Given the description of an element on the screen output the (x, y) to click on. 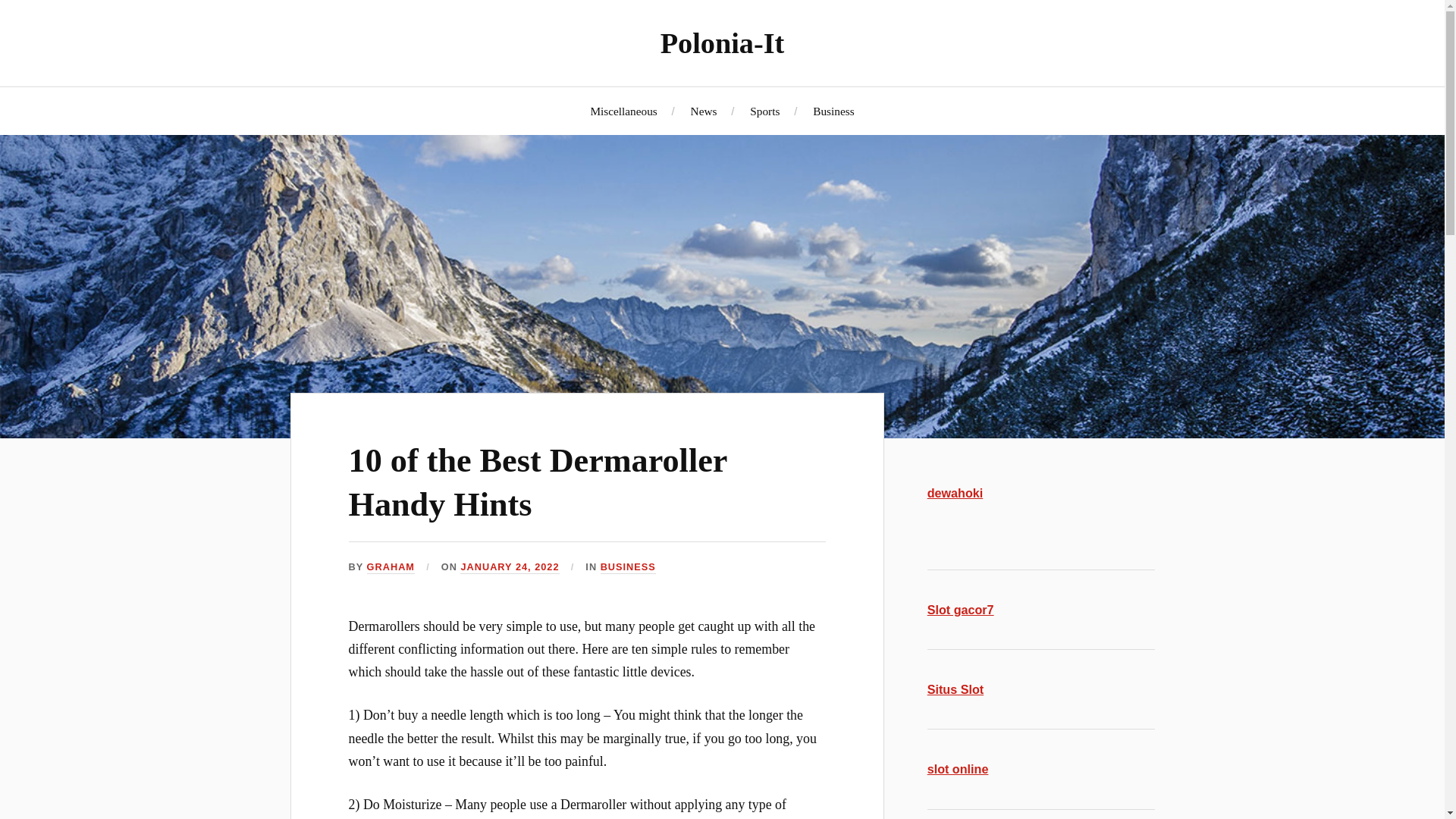
dewahoki (955, 492)
Slot gacor7 (960, 609)
JANUARY 24, 2022 (509, 567)
Posts by Graham (390, 567)
10 of the Best Dermaroller Handy Hints (537, 482)
BUSINESS (627, 567)
GRAHAM (390, 567)
slot online (957, 768)
Polonia-It (722, 42)
Situs Slot (955, 689)
